Given the description of an element on the screen output the (x, y) to click on. 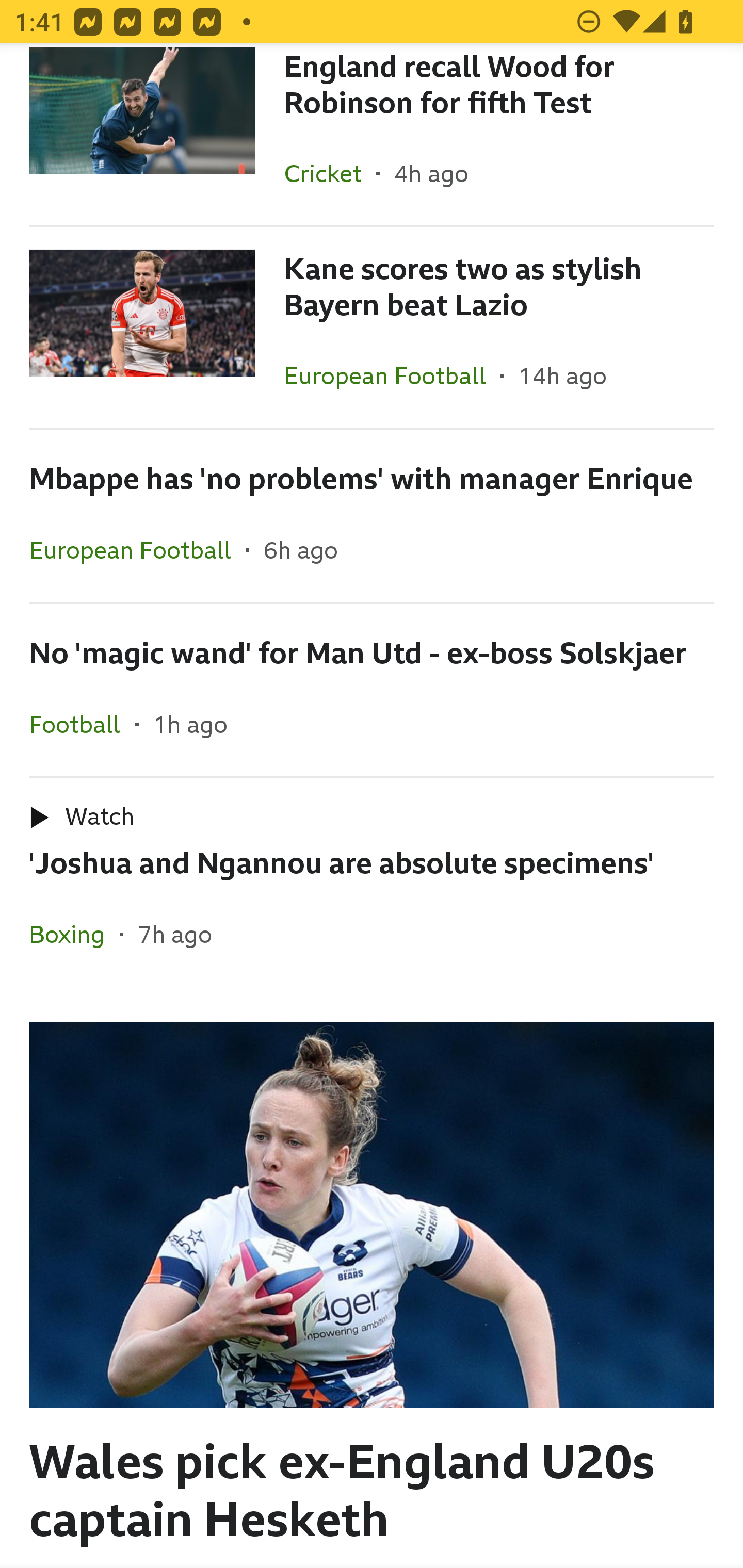
Cricket In the section Cricket (329, 172)
European Football In the section European Football (391, 375)
European Football In the section European Football (136, 549)
Football In the section Football (81, 724)
Boxing In the section Boxing (73, 933)
Wales pick ex-England U20s captain Hesketh (371, 1277)
